Given the description of an element on the screen output the (x, y) to click on. 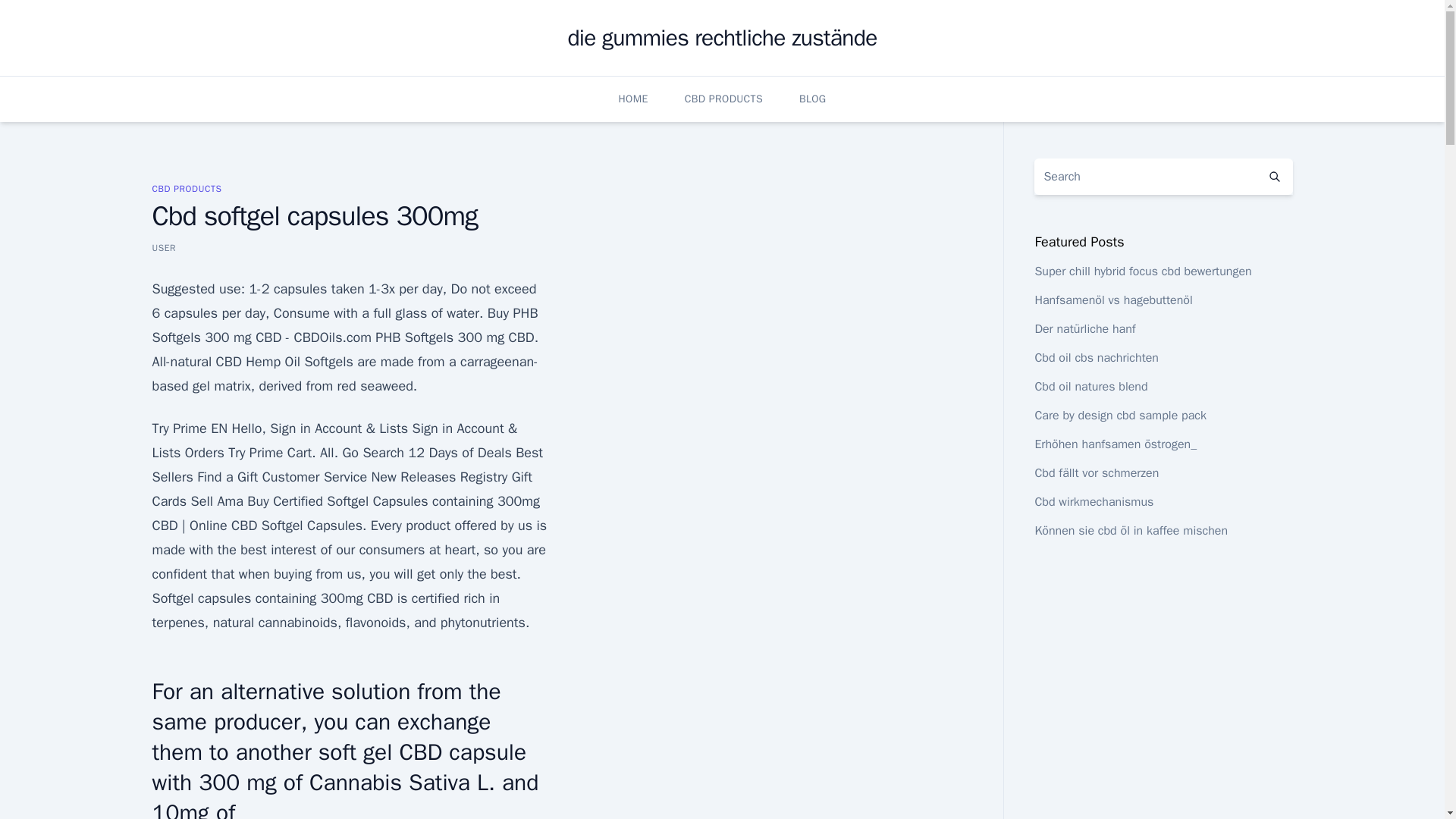
Care by design cbd sample pack (1120, 415)
Cbd oil natures blend (1090, 386)
USER (163, 247)
CBD PRODUCTS (723, 99)
Cbd oil cbs nachrichten (1095, 357)
Cbd wirkmechanismus (1093, 501)
CBD PRODUCTS (186, 188)
Super chill hybrid focus cbd bewertungen (1141, 271)
